Given the description of an element on the screen output the (x, y) to click on. 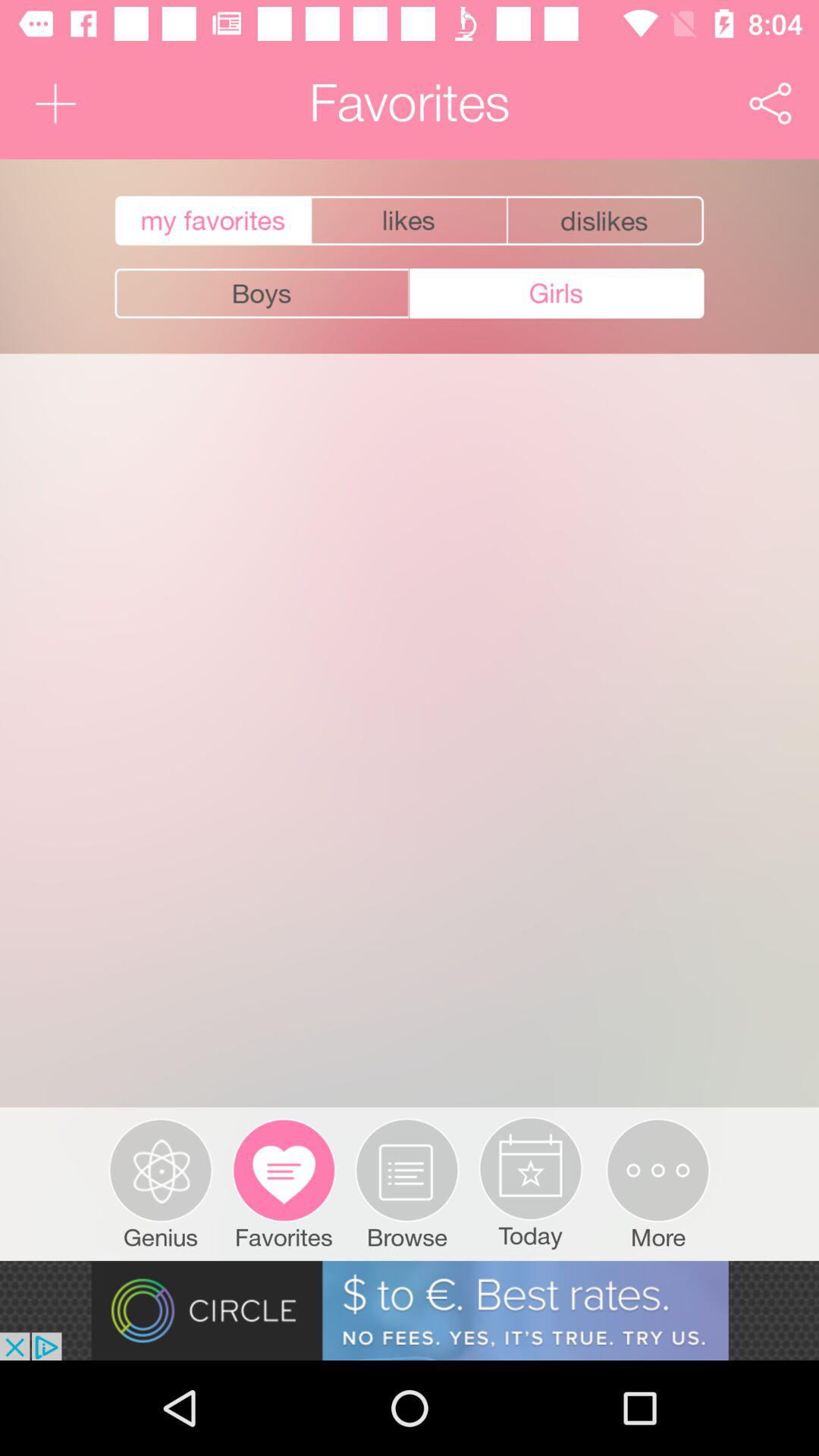
open likes (409, 220)
